Given the description of an element on the screen output the (x, y) to click on. 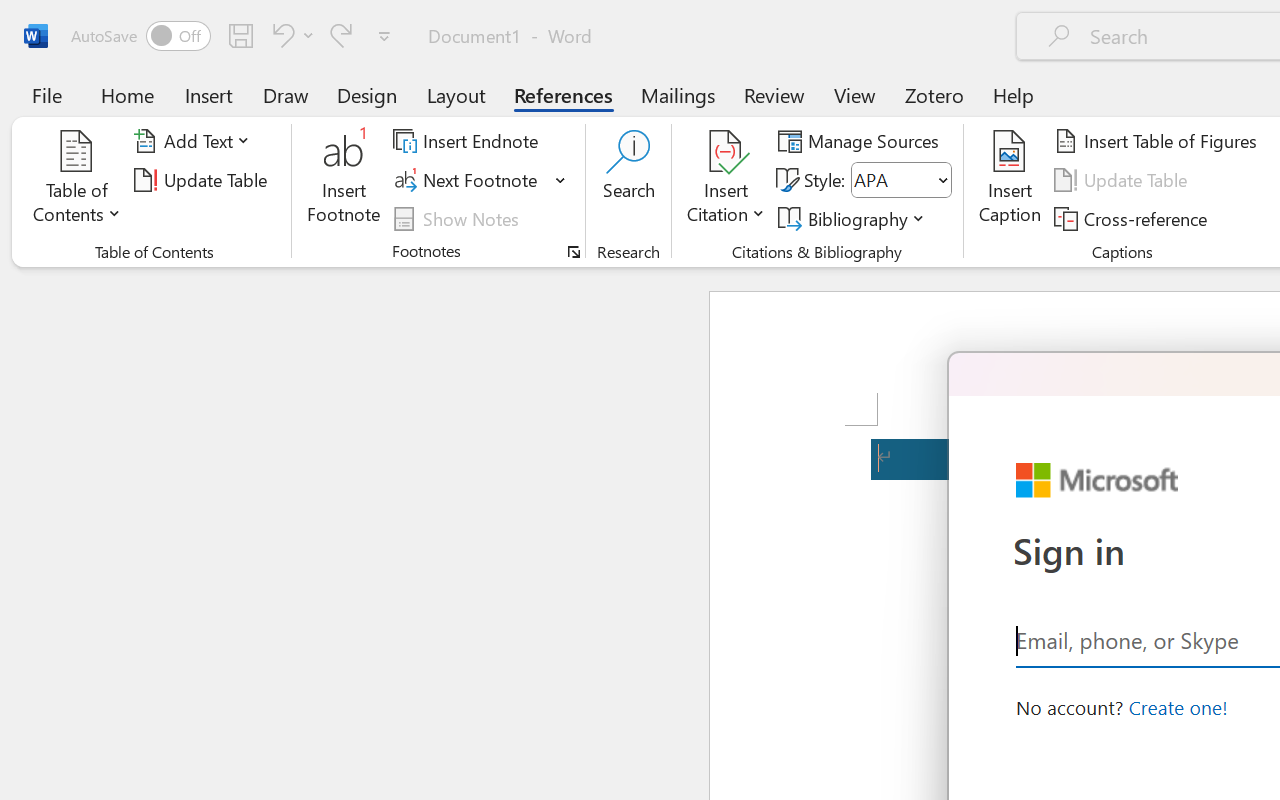
Insert Table of Figures... (1158, 141)
Table of Contents (77, 179)
Insert Endnote (468, 141)
Show Notes (459, 218)
Footnote and Endnote Dialog... (573, 252)
Undo Apply Quick Style Set (290, 35)
Bibliography (854, 218)
Style (901, 179)
Redo Apply Quick Style (341, 35)
